Given the description of an element on the screen output the (x, y) to click on. 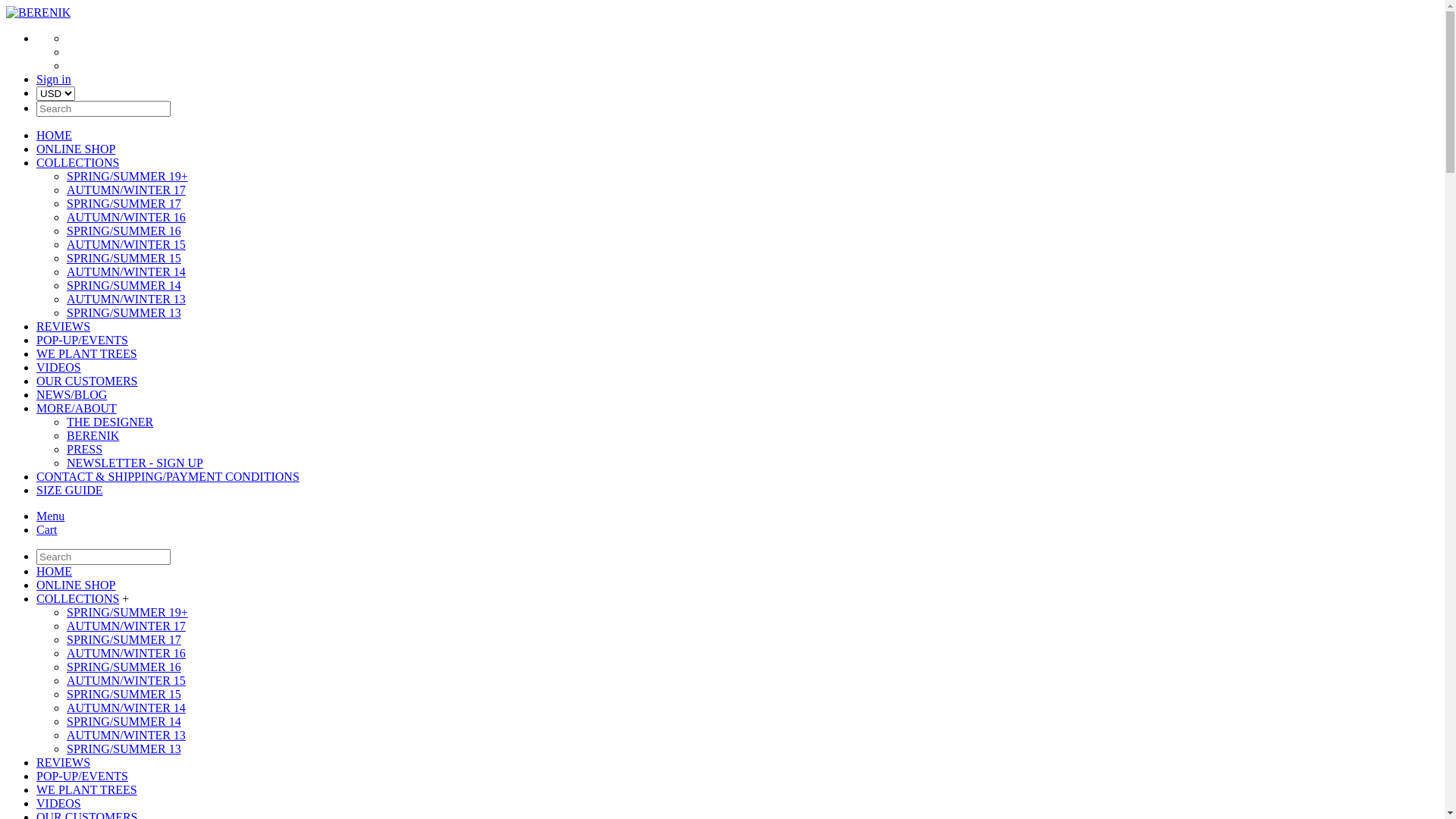
SPRING/SUMMER 14 Element type: text (123, 721)
ONLINE SHOP Element type: text (75, 584)
AUTUMN/WINTER 15 Element type: text (125, 680)
MORE/ABOUT Element type: text (76, 407)
AUTUMN/WINTER 17 Element type: text (125, 189)
AUTUMN/WINTER 17 Element type: text (125, 625)
PRESS Element type: text (84, 448)
ONLINE SHOP Element type: text (75, 148)
POP-UP/EVENTS Element type: text (82, 775)
SPRING/SUMMER 15 Element type: text (123, 693)
NEWSLETTER - SIGN UP Element type: text (134, 462)
REVIEWS Element type: text (63, 326)
OUR CUSTOMERS Element type: text (87, 380)
AUTUMN/WINTER 14 Element type: text (125, 707)
Cart Element type: text (46, 529)
SPRING/SUMMER 15 Element type: text (123, 257)
CONTACT & SHIPPING/PAYMENT CONDITIONS Element type: text (167, 476)
SPRING/SUMMER 13 Element type: text (123, 748)
SPRING/SUMMER 16 Element type: text (123, 230)
VIDEOS Element type: text (58, 366)
SPRING/SUMMER 19+ Element type: text (127, 175)
SPRING/SUMMER 17 Element type: text (123, 203)
BERENIK Element type: text (92, 435)
WE PLANT TREES Element type: text (86, 353)
REVIEWS Element type: text (63, 762)
HOME Element type: text (54, 134)
Menu Element type: text (50, 515)
NEWS/BLOG Element type: text (71, 394)
Sign in Element type: text (53, 78)
AUTUMN/WINTER 14 Element type: text (125, 271)
THE DESIGNER Element type: text (109, 421)
AUTUMN/WINTER 16 Element type: text (125, 216)
SPRING/SUMMER 17 Element type: text (123, 639)
BERENIK Element type: hover (38, 12)
HOME Element type: text (54, 570)
VIDEOS Element type: text (58, 803)
WE PLANT TREES Element type: text (86, 789)
AUTUMN/WINTER 15 Element type: text (125, 244)
SPRING/SUMMER 16 Element type: text (123, 666)
COLLECTIONS Element type: text (77, 162)
SPRING/SUMMER 14 Element type: text (123, 285)
SPRING/SUMMER 19+ Element type: text (127, 611)
AUTUMN/WINTER 13 Element type: text (125, 734)
COLLECTIONS Element type: text (77, 598)
POP-UP/EVENTS Element type: text (82, 339)
SIZE GUIDE Element type: text (69, 489)
AUTUMN/WINTER 16 Element type: text (125, 652)
AUTUMN/WINTER 13 Element type: text (125, 298)
SPRING/SUMMER 13 Element type: text (123, 312)
